Given the description of an element on the screen output the (x, y) to click on. 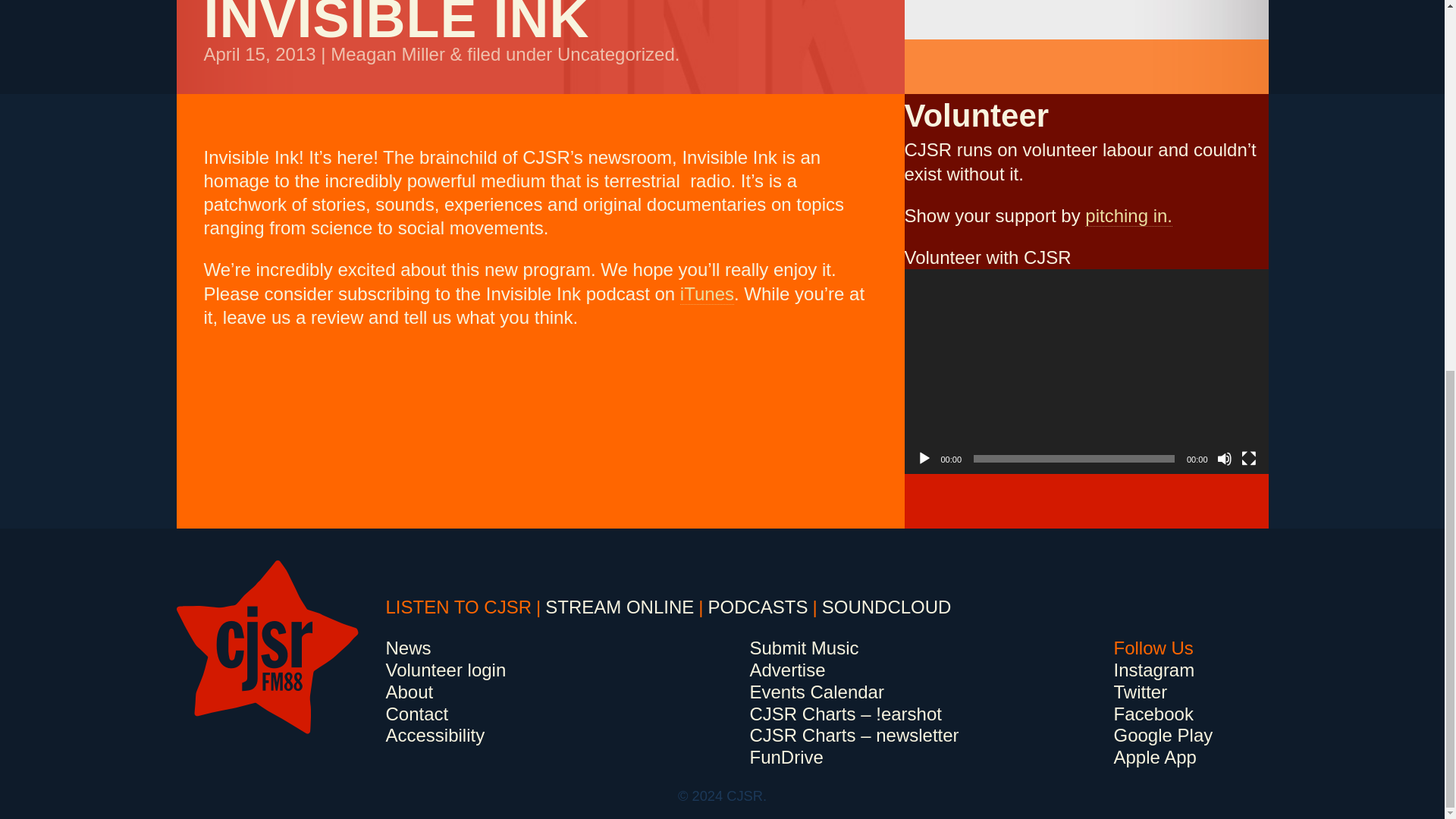
Play (923, 458)
Accessibility (434, 734)
About (408, 691)
Submit Music (804, 648)
Advertise (787, 670)
iTunes (706, 292)
CJSR (267, 646)
Twitter (1140, 691)
FunDrive (785, 756)
Instagram (1153, 670)
Volunteer login (445, 670)
Meagan Miller (387, 54)
Facebook (1152, 713)
Posts by Meagan Miller (387, 54)
Contact (416, 713)
